Given the description of an element on the screen output the (x, y) to click on. 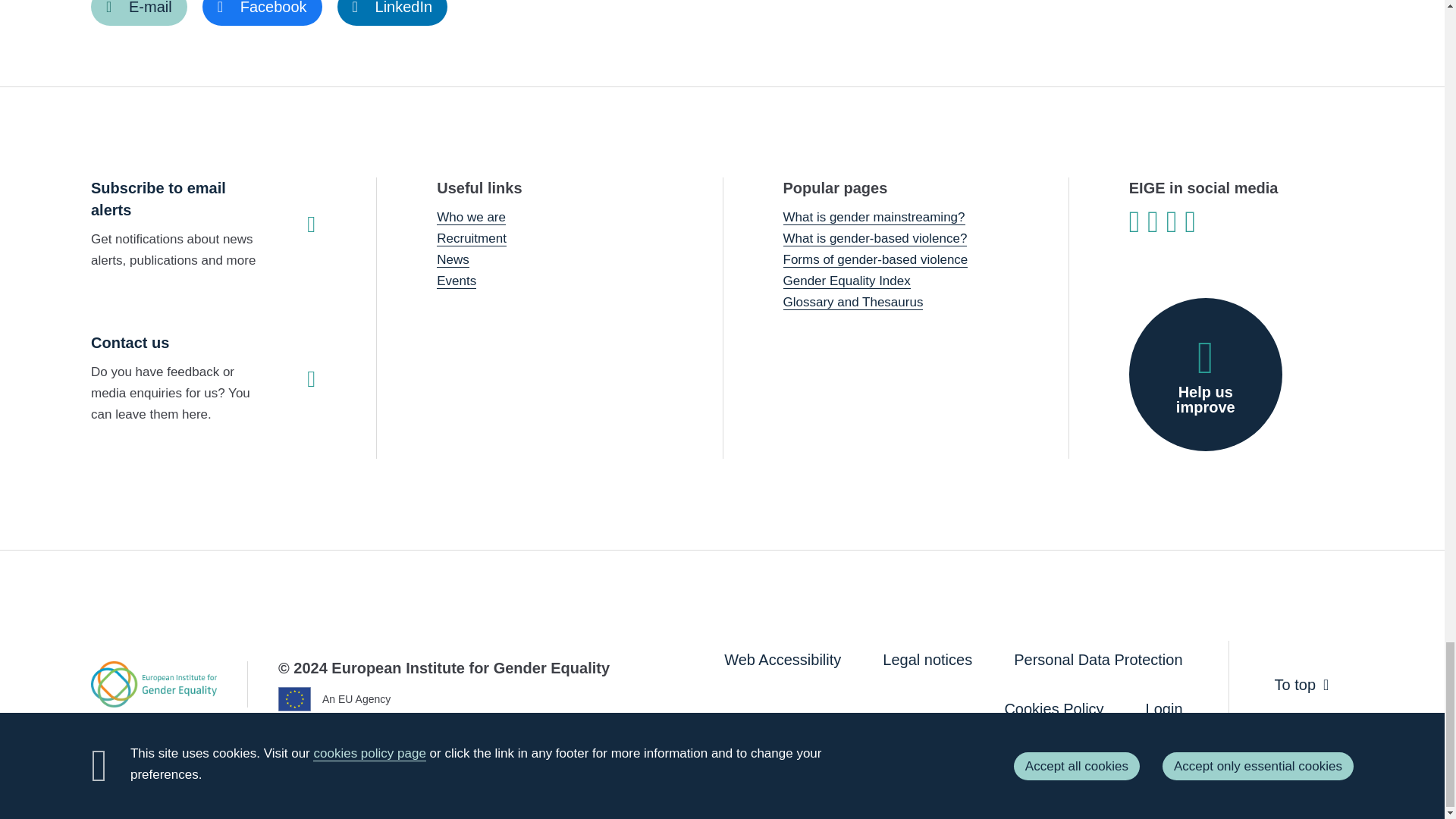
LinkedIn (392, 12)
E-mail (138, 12)
Facebook (261, 12)
